Given the description of an element on the screen output the (x, y) to click on. 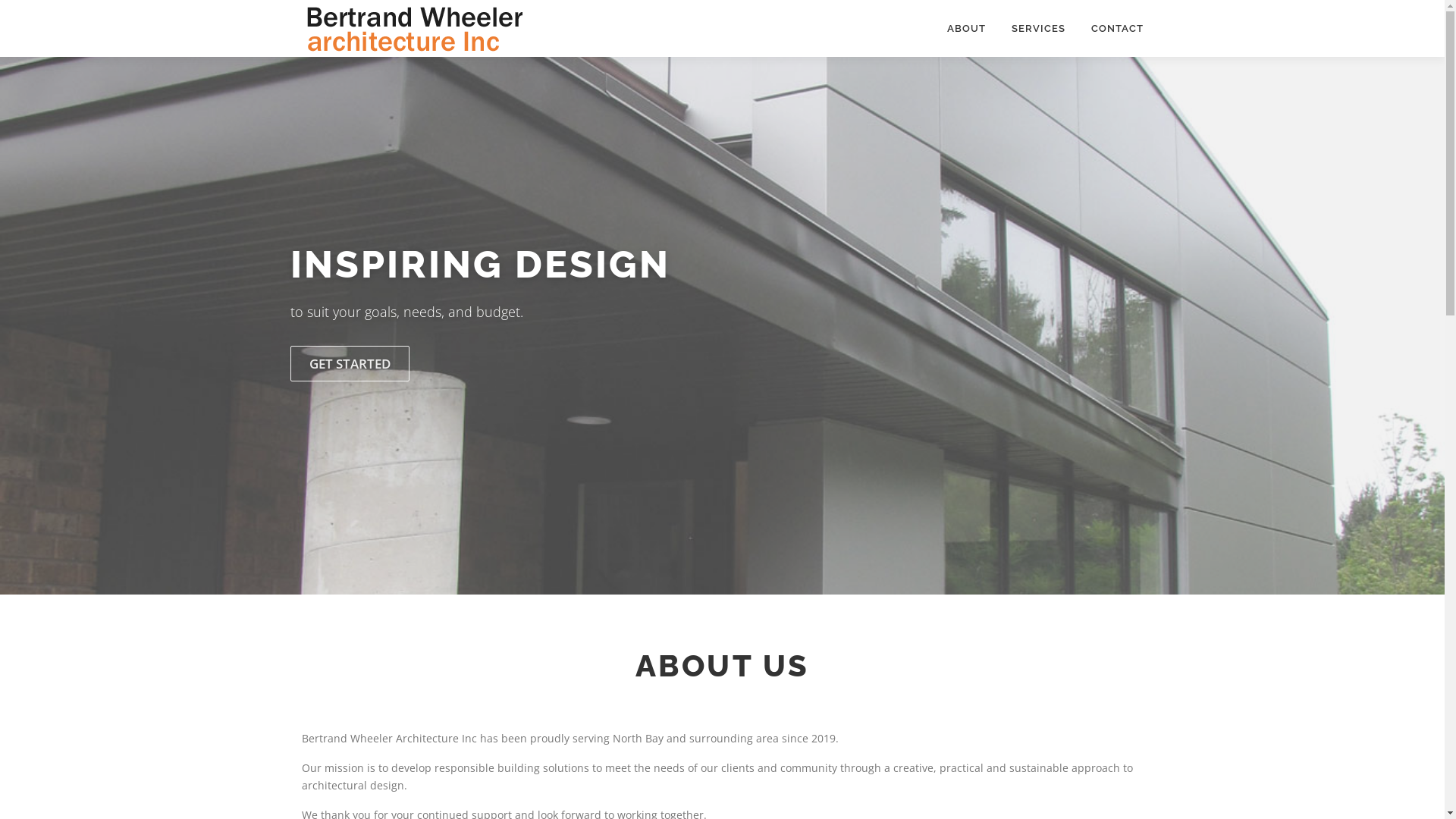
GET STARTED Element type: text (348, 363)
Skip to content Element type: text (37, 9)
ABOUT Element type: text (966, 28)
CONTACT Element type: text (1110, 28)
SERVICES Element type: text (1037, 28)
